Given the description of an element on the screen output the (x, y) to click on. 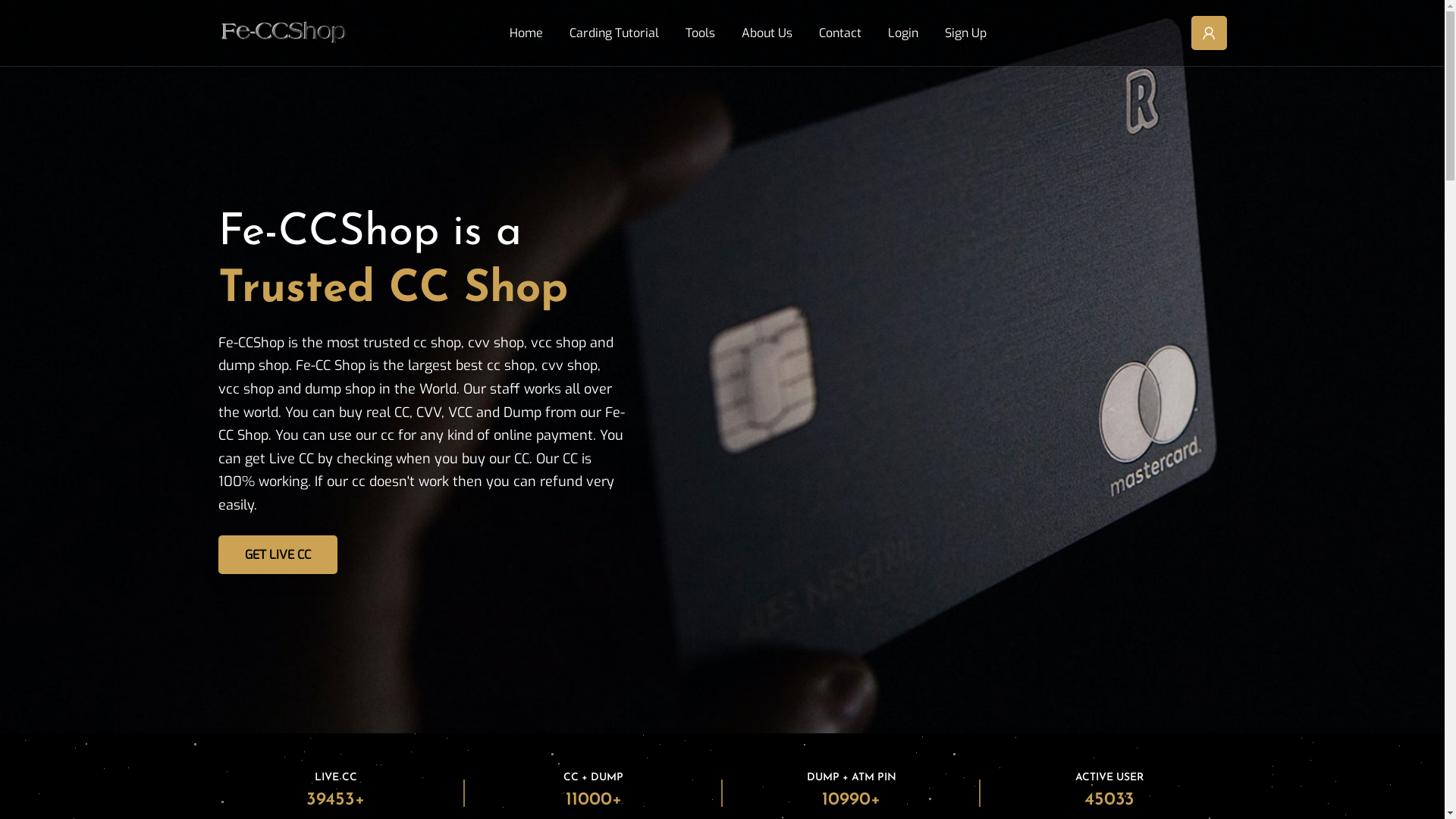
Contact Element type: text (845, 32)
Login Element type: text (907, 32)
About Us Element type: text (772, 32)
GET LIVE CC Element type: text (277, 554)
Carding Tutorial Element type: text (618, 32)
Tools Element type: text (705, 32)
Sign Up Element type: text (970, 32)
Home Element type: text (531, 32)
